Given the description of an element on the screen output the (x, y) to click on. 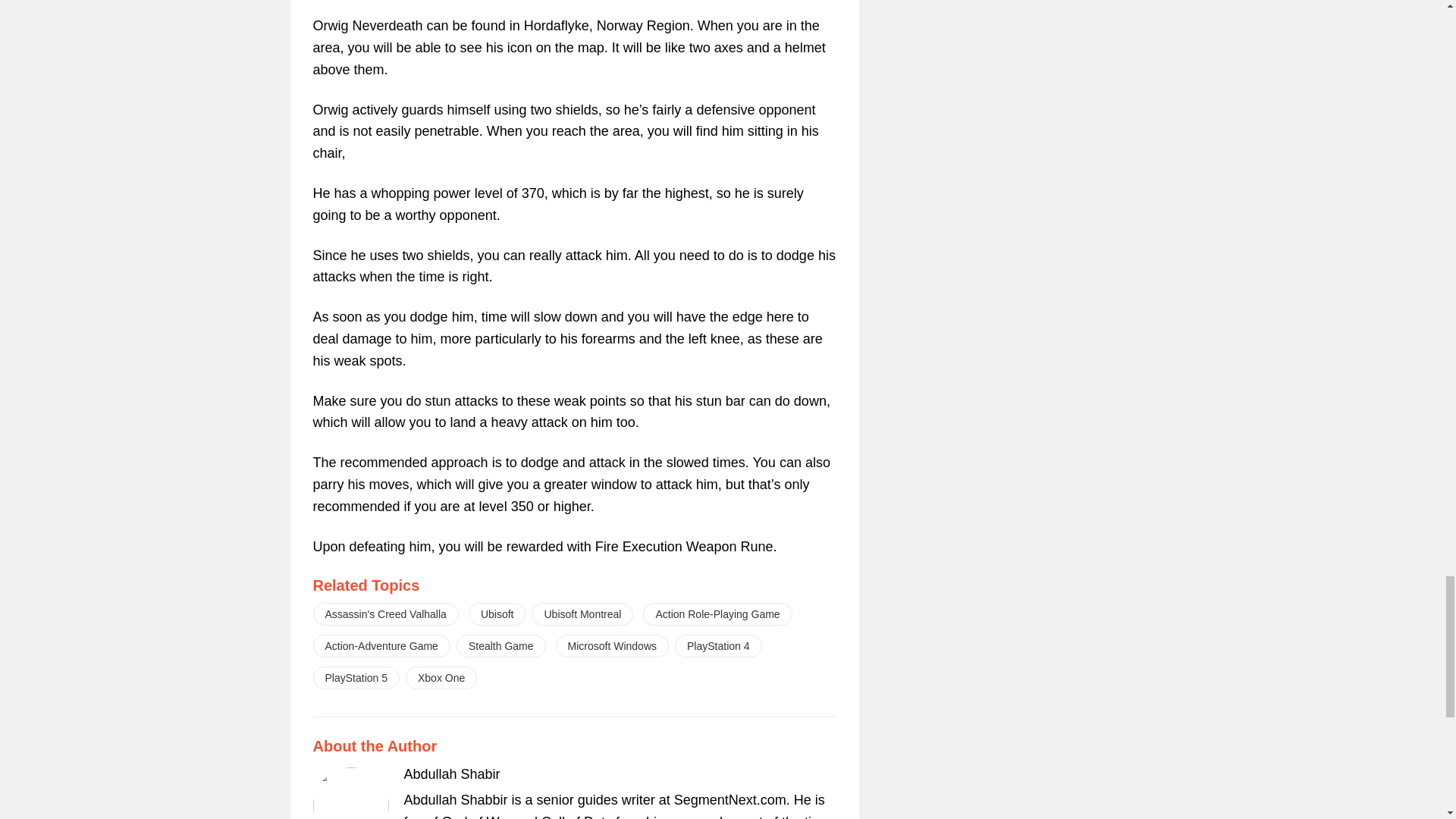
Action-Adventure Game (381, 645)
Ubisoft (496, 613)
Assassin's Creed Valhalla (385, 613)
Abdullah Shabir (451, 774)
Microsoft Windows (612, 645)
PlayStation 4 (718, 645)
PlayStation 5 (355, 677)
Action Role-Playing Game (717, 613)
Stealth Game (501, 645)
Ubisoft Montreal (582, 613)
